Given the description of an element on the screen output the (x, y) to click on. 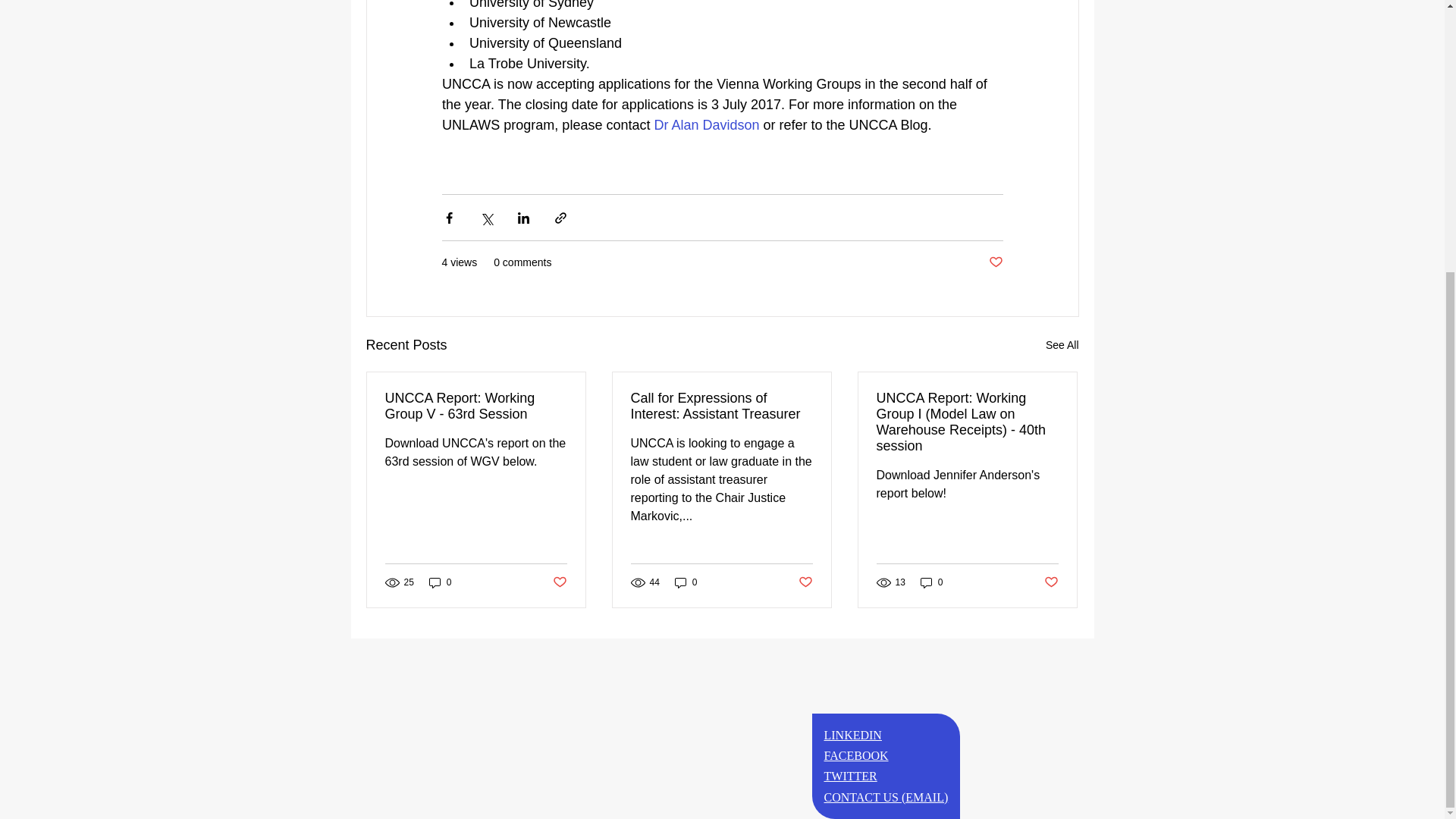
0 (685, 581)
Call for Expressions of Interest: Assistant Treasurer (721, 406)
0 (931, 581)
Post not marked as liked (558, 582)
See All (1061, 345)
Post not marked as liked (995, 262)
0 (440, 581)
Dr Alan Davidson (705, 124)
UNCCA Report: Working Group V - 63rd Session (476, 406)
Post not marked as liked (804, 582)
